Given the description of an element on the screen output the (x, y) to click on. 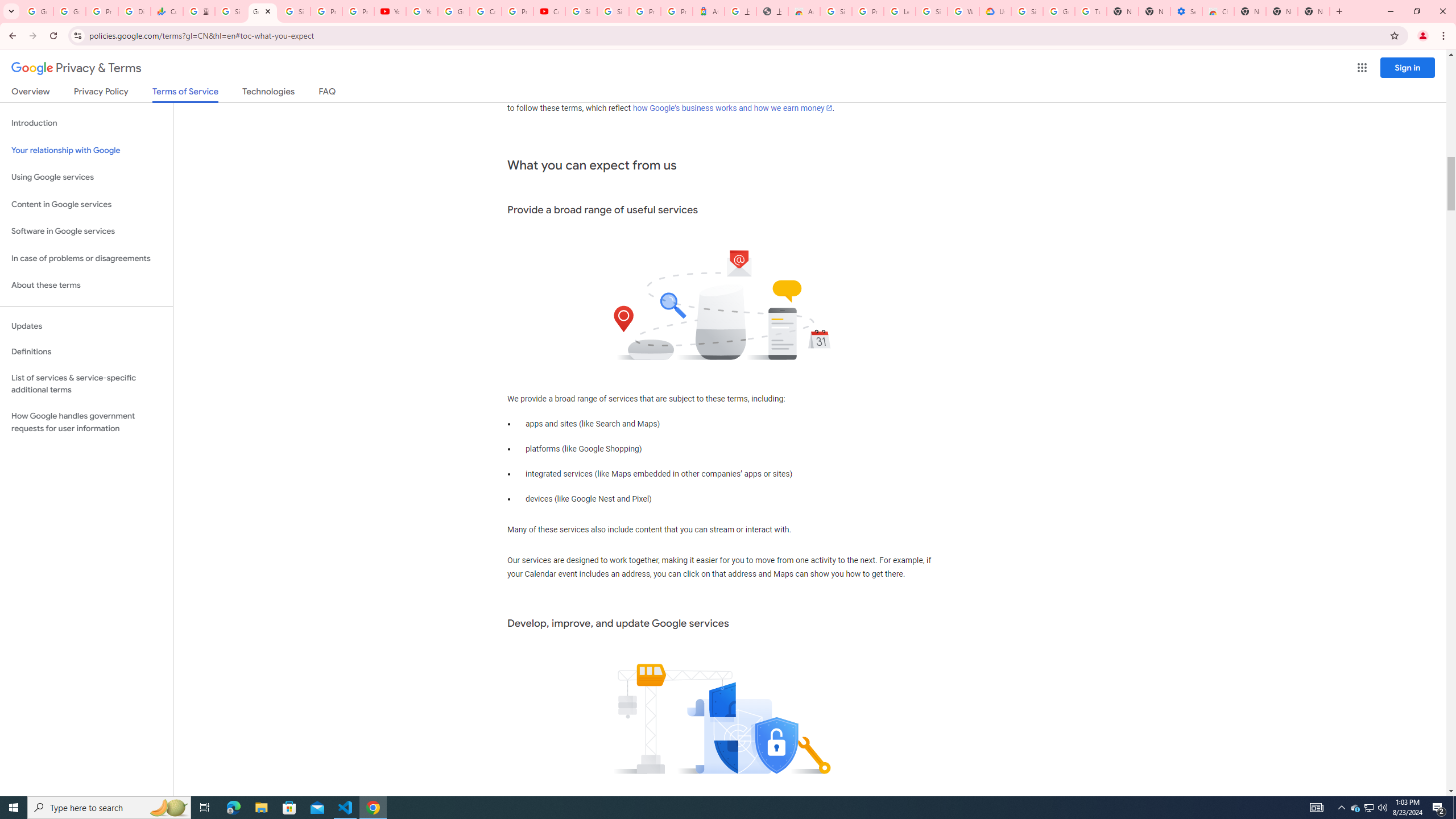
Turn cookies on or off - Computer - Google Account Help (1091, 11)
Create your Google Account (485, 11)
About these terms (86, 284)
YouTube (389, 11)
Sign in - Google Accounts (931, 11)
Software in Google services (86, 230)
